Given the description of an element on the screen output the (x, y) to click on. 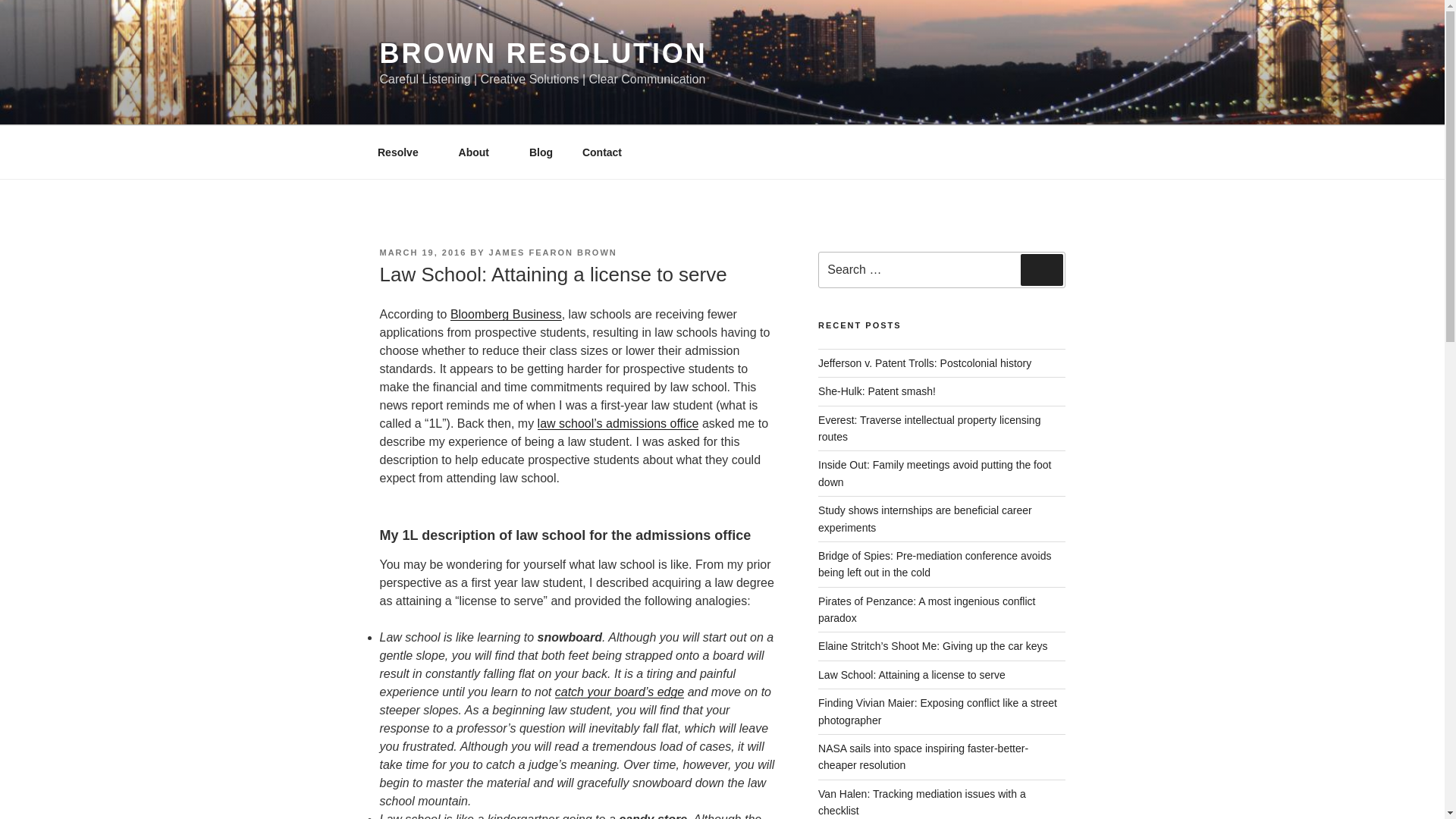
Resolve (403, 151)
Everest: Traverse intellectual property licensing routes (929, 428)
MARCH 19, 2016 (421, 252)
Contact (607, 151)
BROWN RESOLUTION (542, 52)
About (478, 151)
Inside Out: Family meetings avoid putting the foot down (934, 472)
Jefferson v. Patent Trolls: Postcolonial history (924, 363)
Search (1041, 269)
She-Hulk: Patent smash! (877, 390)
